Given the description of an element on the screen output the (x, y) to click on. 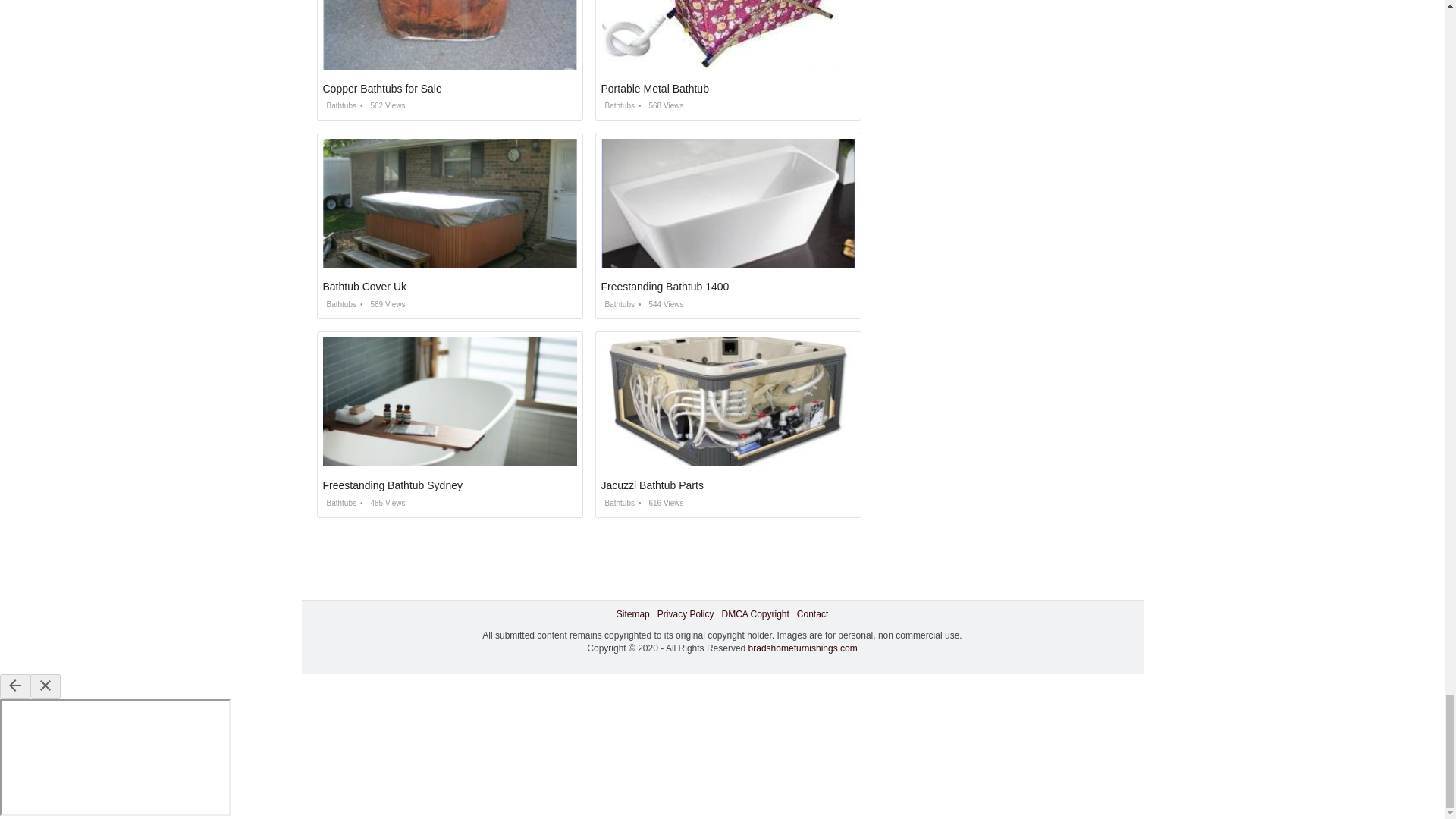
Bathtubs (339, 304)
Copper Bathtubs for Sale (382, 88)
Bathtubs (616, 304)
Freestanding Bathtub 1400 (664, 286)
Bathtubs (616, 502)
Bathtub Cover Uk (365, 286)
Bathtubs (339, 105)
Portable Metal Bathtub (653, 88)
Freestanding Bathtub Sydney (393, 485)
Jacuzzi Bathtub Parts (651, 485)
Bathtubs (616, 105)
Bathtubs (339, 502)
